Given the description of an element on the screen output the (x, y) to click on. 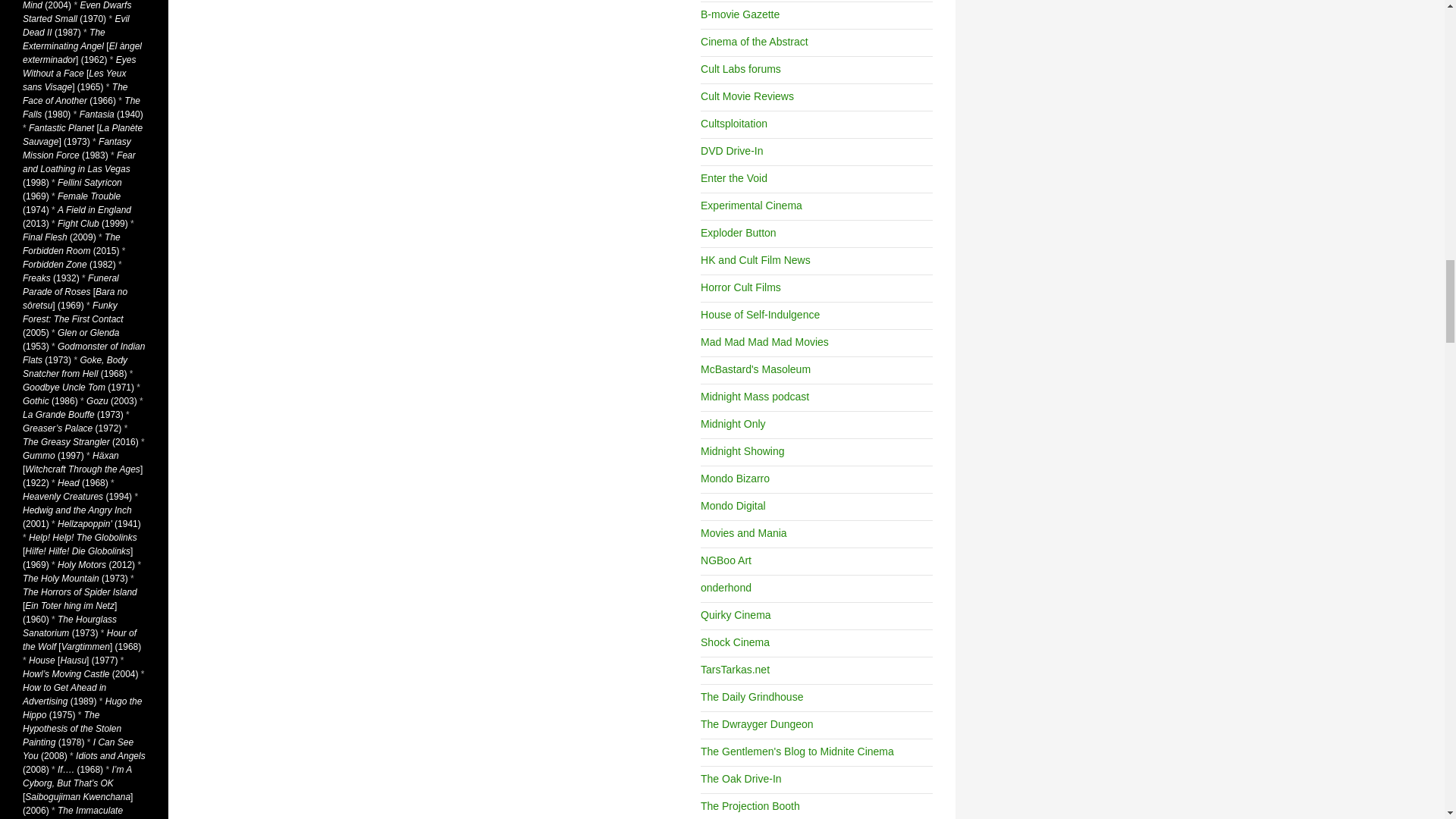
100 of the best B-movie blogs out there (739, 14)
The latest cult movie DVD reviews (731, 150)
News and resources on experimental films (751, 205)
